Given the description of an element on the screen output the (x, y) to click on. 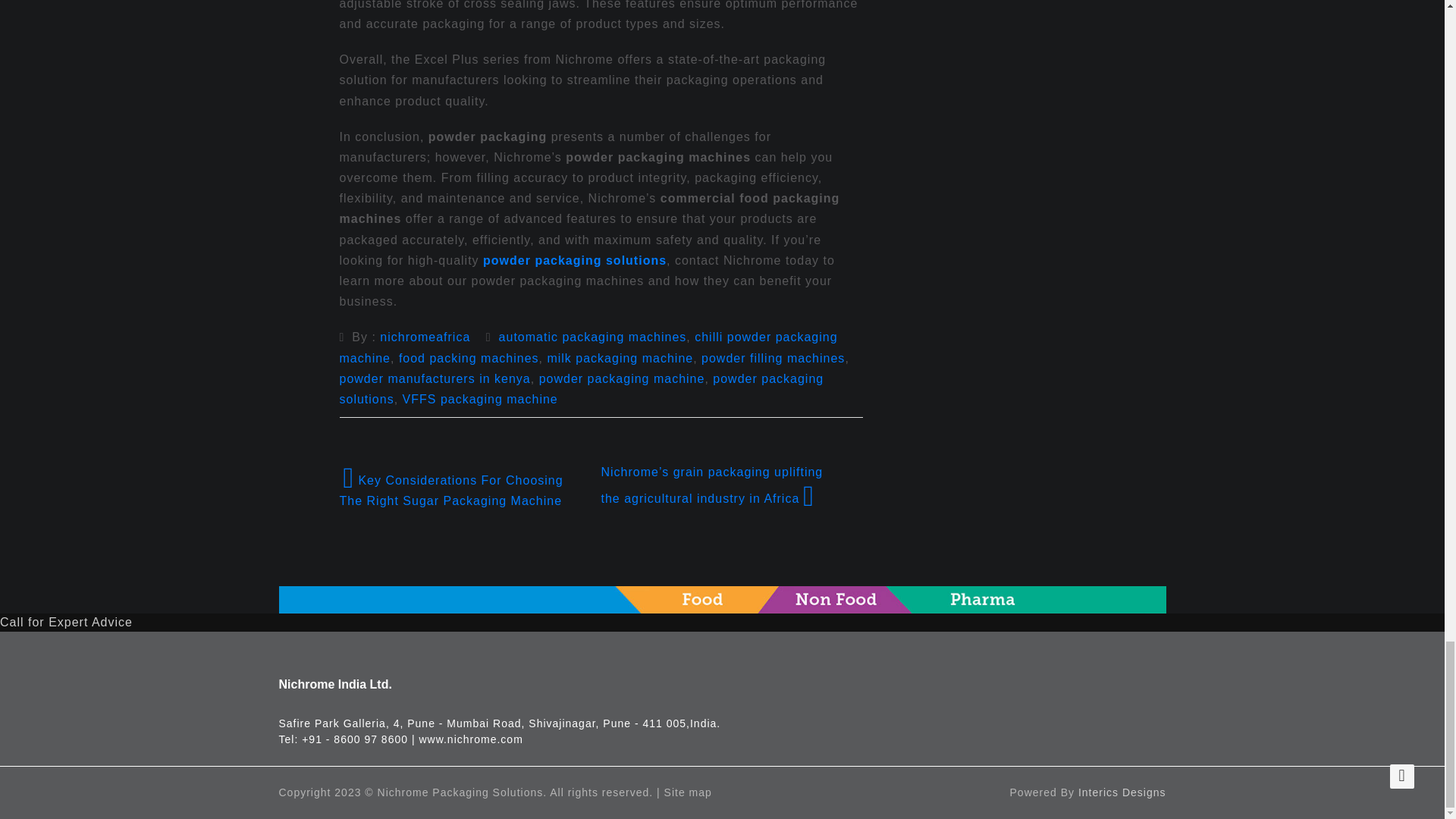
food packing machines (468, 358)
Posts by nichromeafrica (425, 336)
powder packaging solutions (574, 259)
nichromeafrica (425, 336)
powder manufacturers in kenya (435, 378)
milk packaging machine (620, 358)
powder packaging solutions (581, 388)
automatic packaging machines (593, 336)
powder packaging machine (621, 378)
powder filling machines (772, 358)
VFFS packaging machine (480, 399)
chilli powder packaging machine (588, 346)
